Given the description of an element on the screen output the (x, y) to click on. 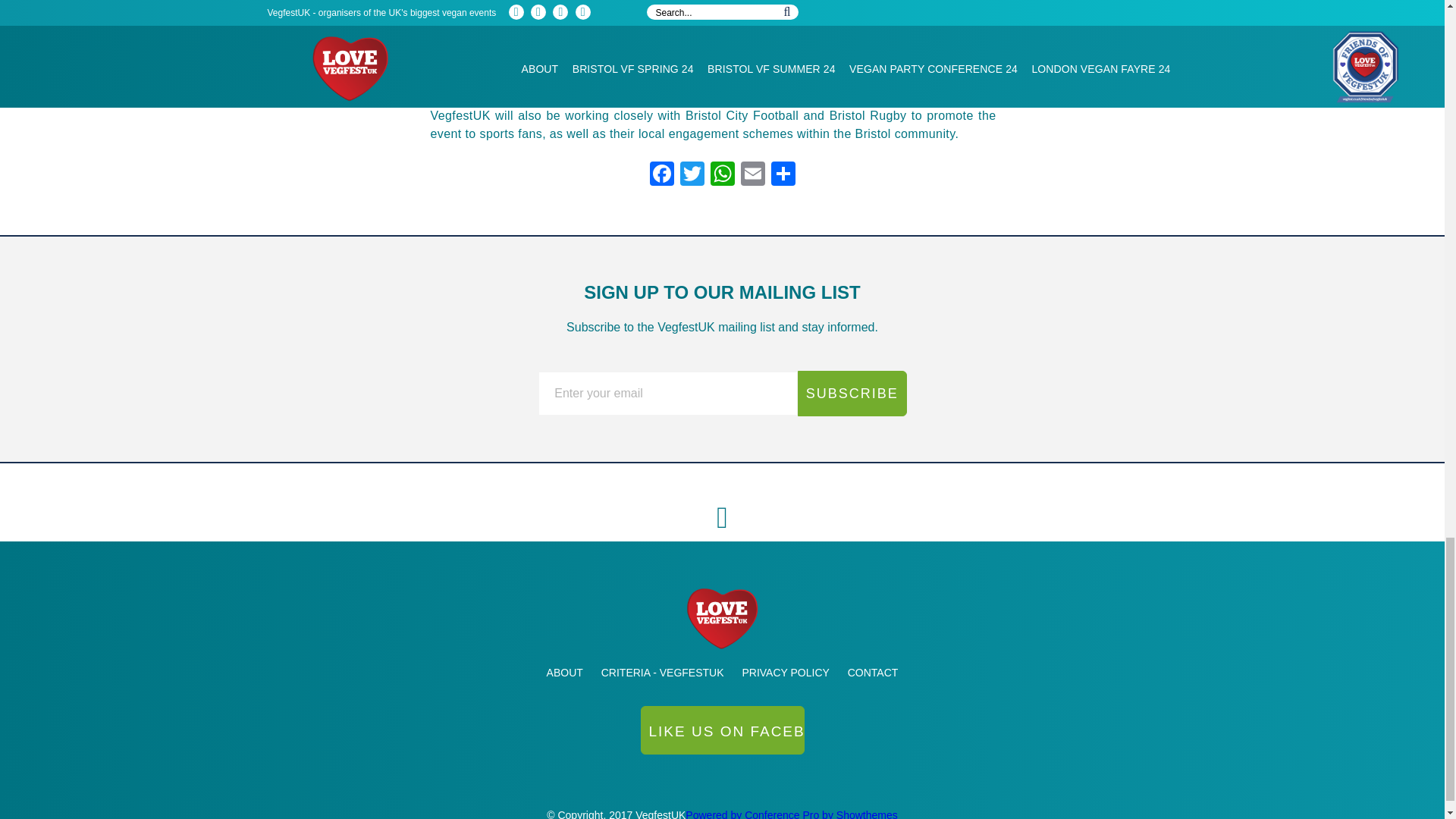
Email (751, 175)
Facebook (661, 175)
Twitter (691, 175)
WhatsApp (721, 175)
Yaoh (721, 734)
